Given the description of an element on the screen output the (x, y) to click on. 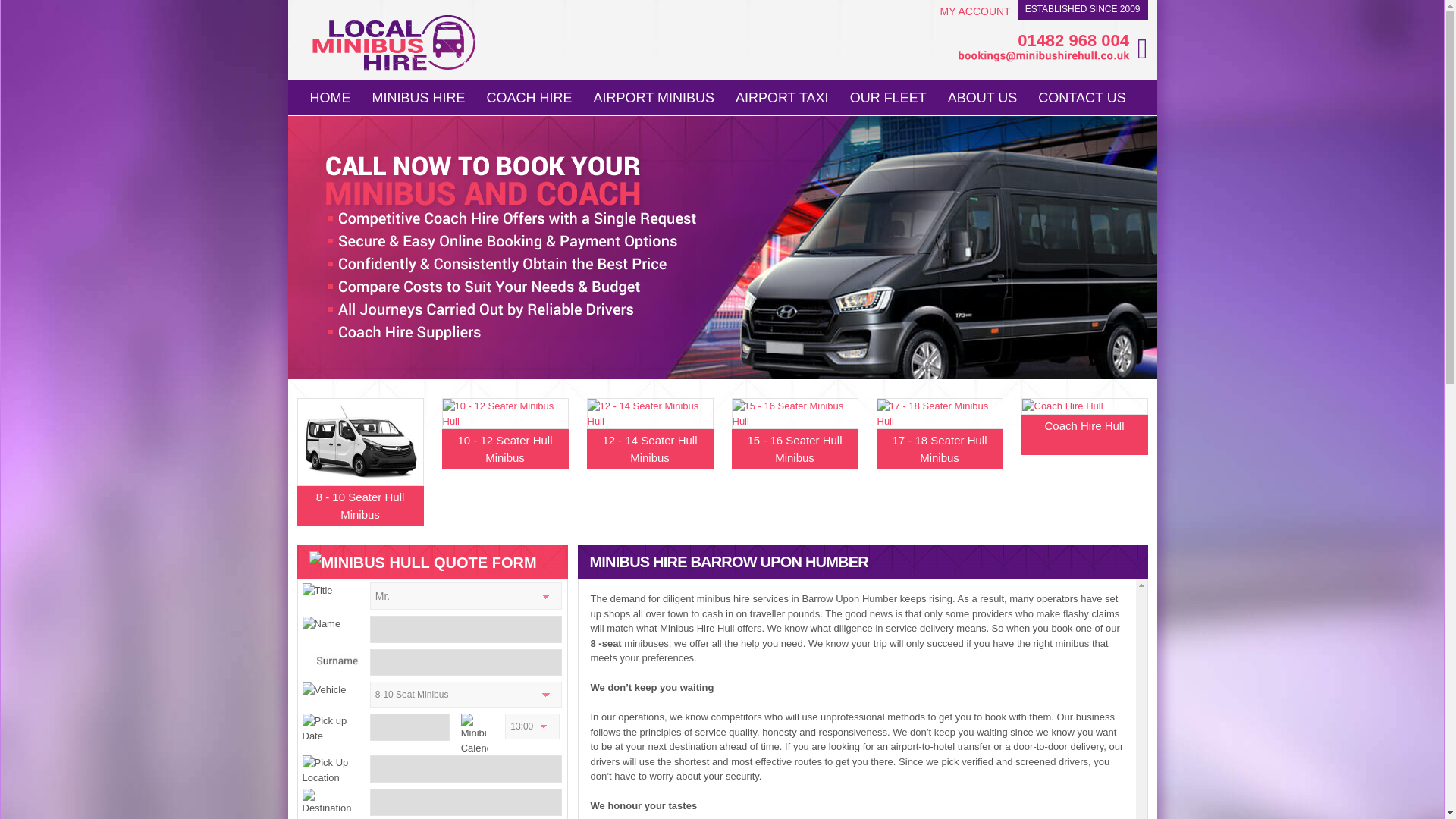
AIRPORT TAXI (782, 95)
MY ACCOUNT (975, 11)
10 - 12 Seater Hull Minibus (504, 433)
ABOUT US (982, 95)
01482 968 004 (1042, 41)
CONTACT US (1081, 95)
HOME (329, 95)
8 - 10 Seater Hull Minibus (360, 475)
15 - 16 Seater Hull Minibus (793, 433)
OUR FLEET (888, 95)
